Given the description of an element on the screen output the (x, y) to click on. 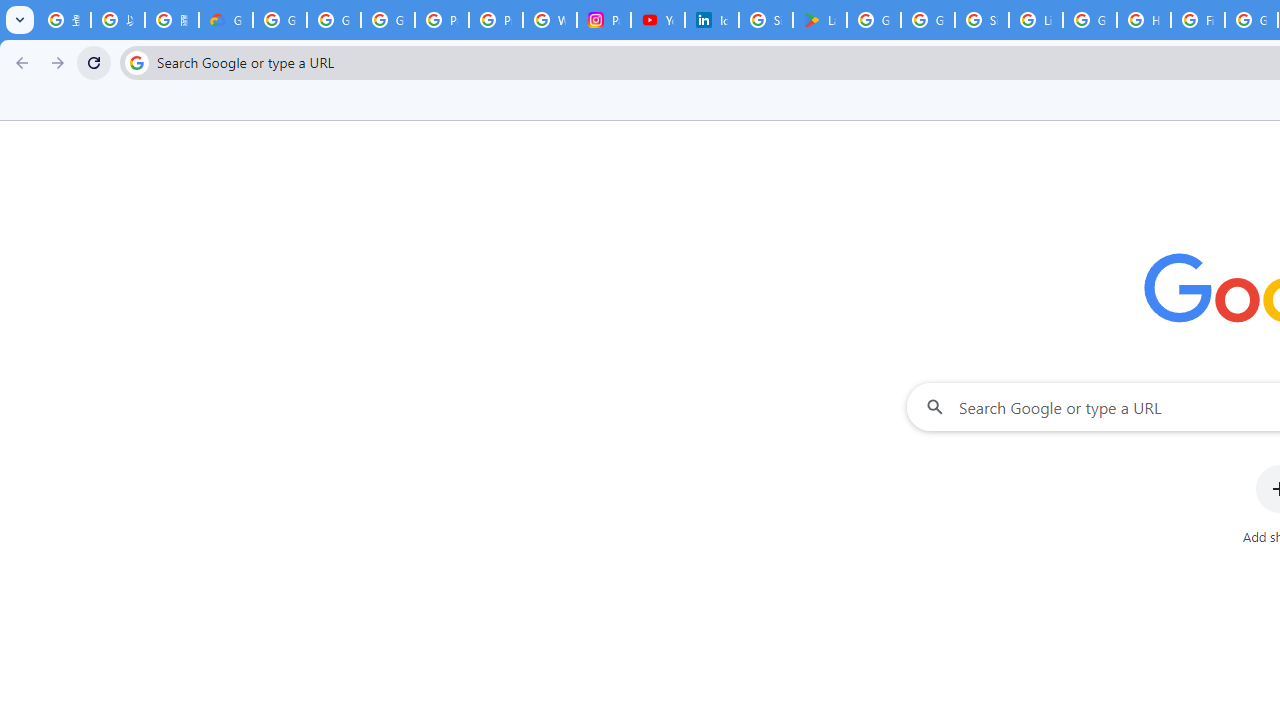
Identity verification via Persona | LinkedIn Help (711, 20)
Privacy Help Center - Policies Help (495, 20)
Sign in - Google Accounts (981, 20)
Google Workspace - Specific Terms (927, 20)
Sign in - Google Accounts (765, 20)
YouTube Culture & Trends - On The Rise: Handcam Videos (657, 20)
